Given the description of an element on the screen output the (x, y) to click on. 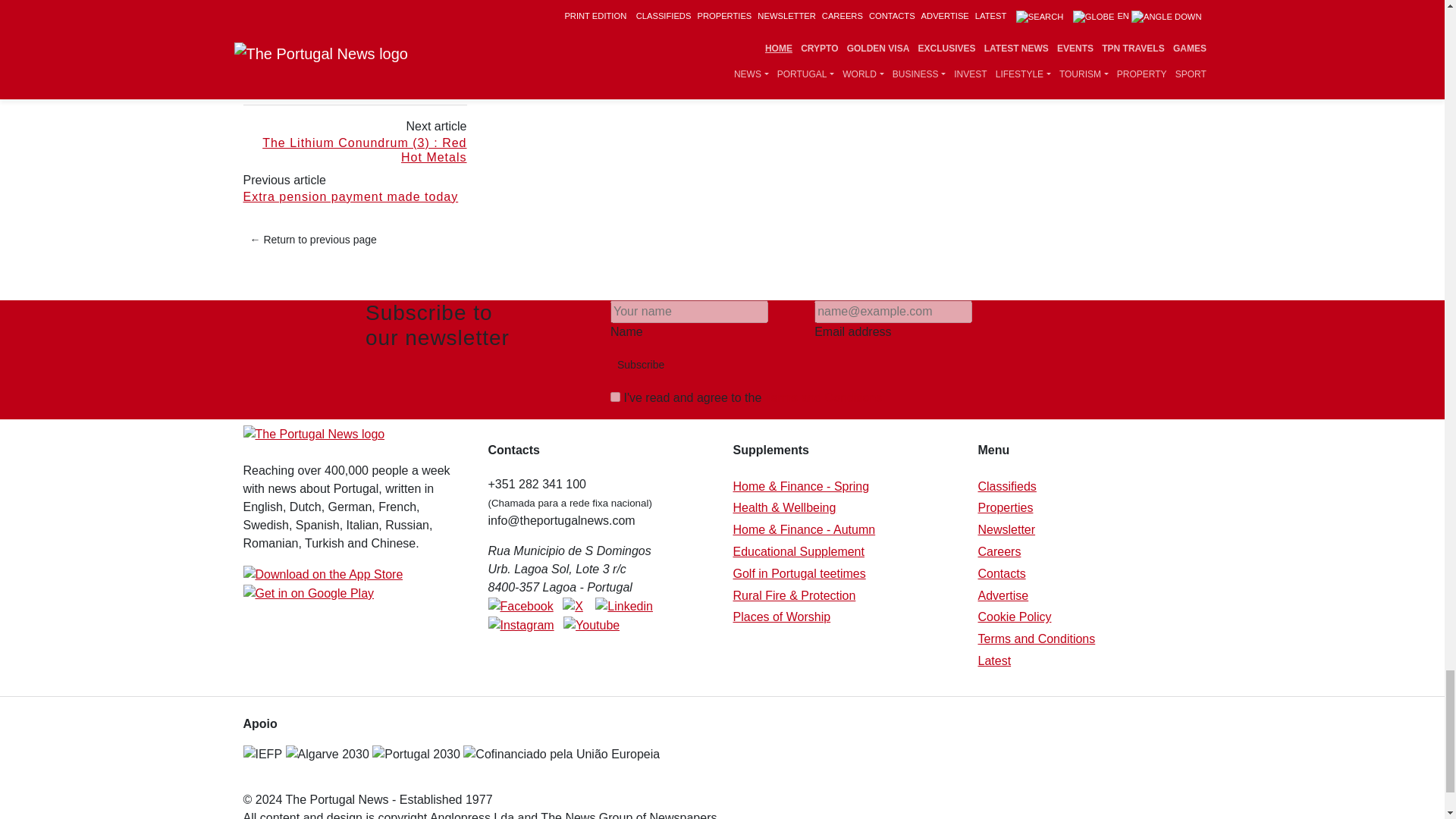
on (615, 397)
